Given the description of an element on the screen output the (x, y) to click on. 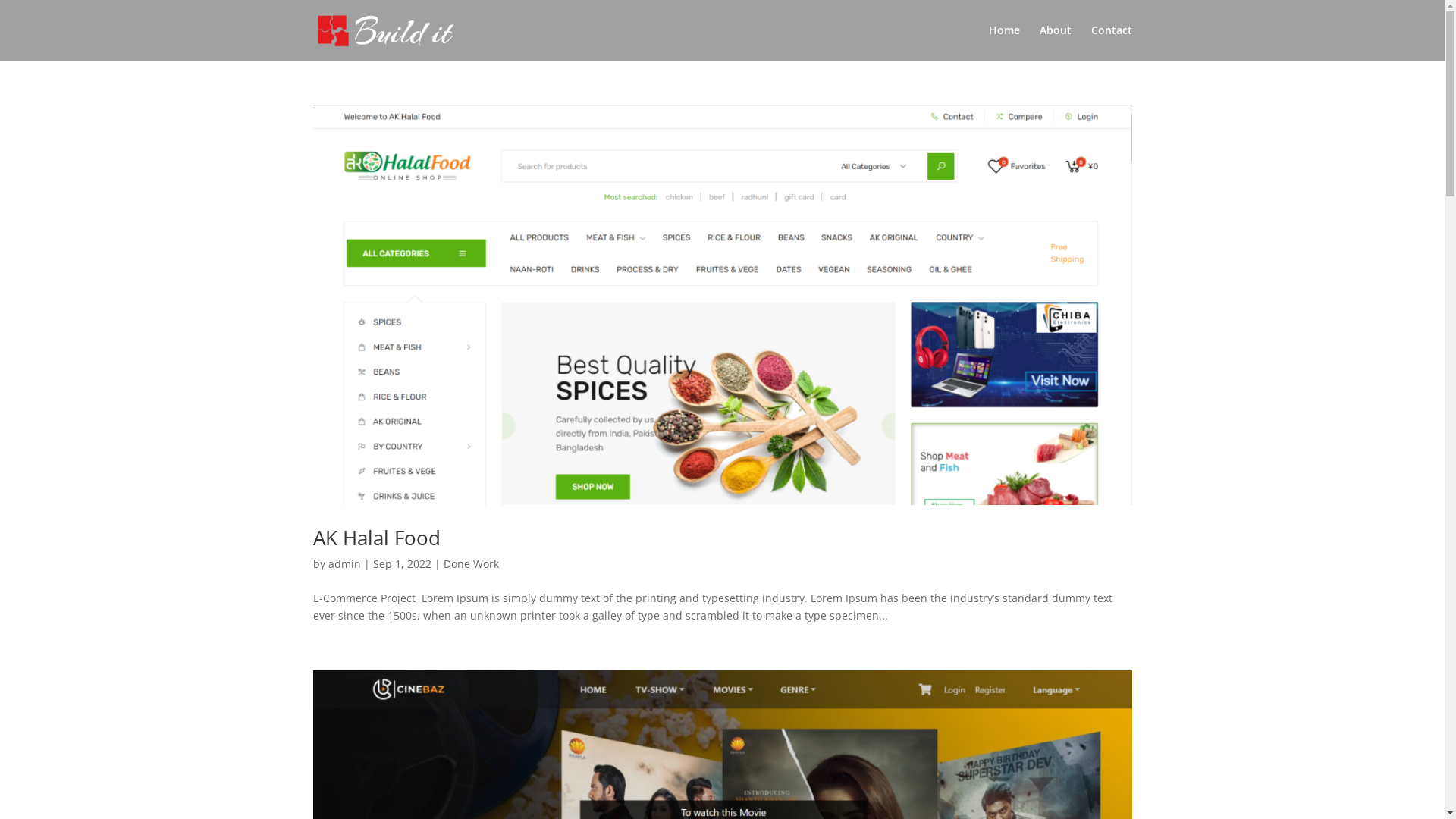
Home Element type: text (1003, 42)
Contact Element type: text (1110, 42)
About Element type: text (1054, 42)
admin Element type: text (343, 563)
AK Halal Food Element type: text (375, 537)
Done Work Element type: text (470, 563)
